Given the description of an element on the screen output the (x, y) to click on. 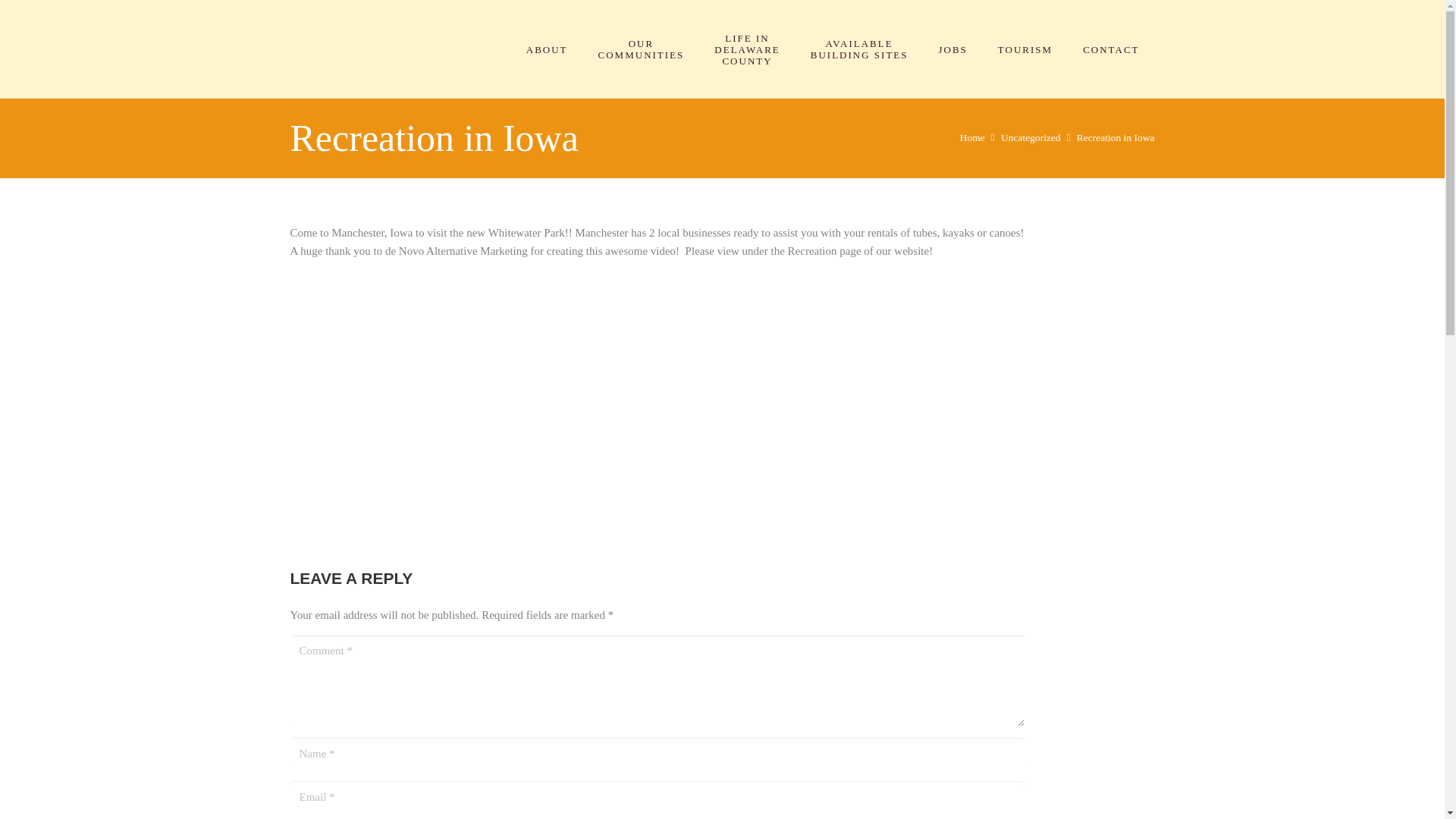
JOBS (952, 49)
Uncategorized (1031, 137)
CONTACT (1110, 49)
Recreation in Iowa (1115, 137)
ABOUT (547, 49)
TOURISM (858, 48)
Home (1024, 49)
